Given the description of an element on the screen output the (x, y) to click on. 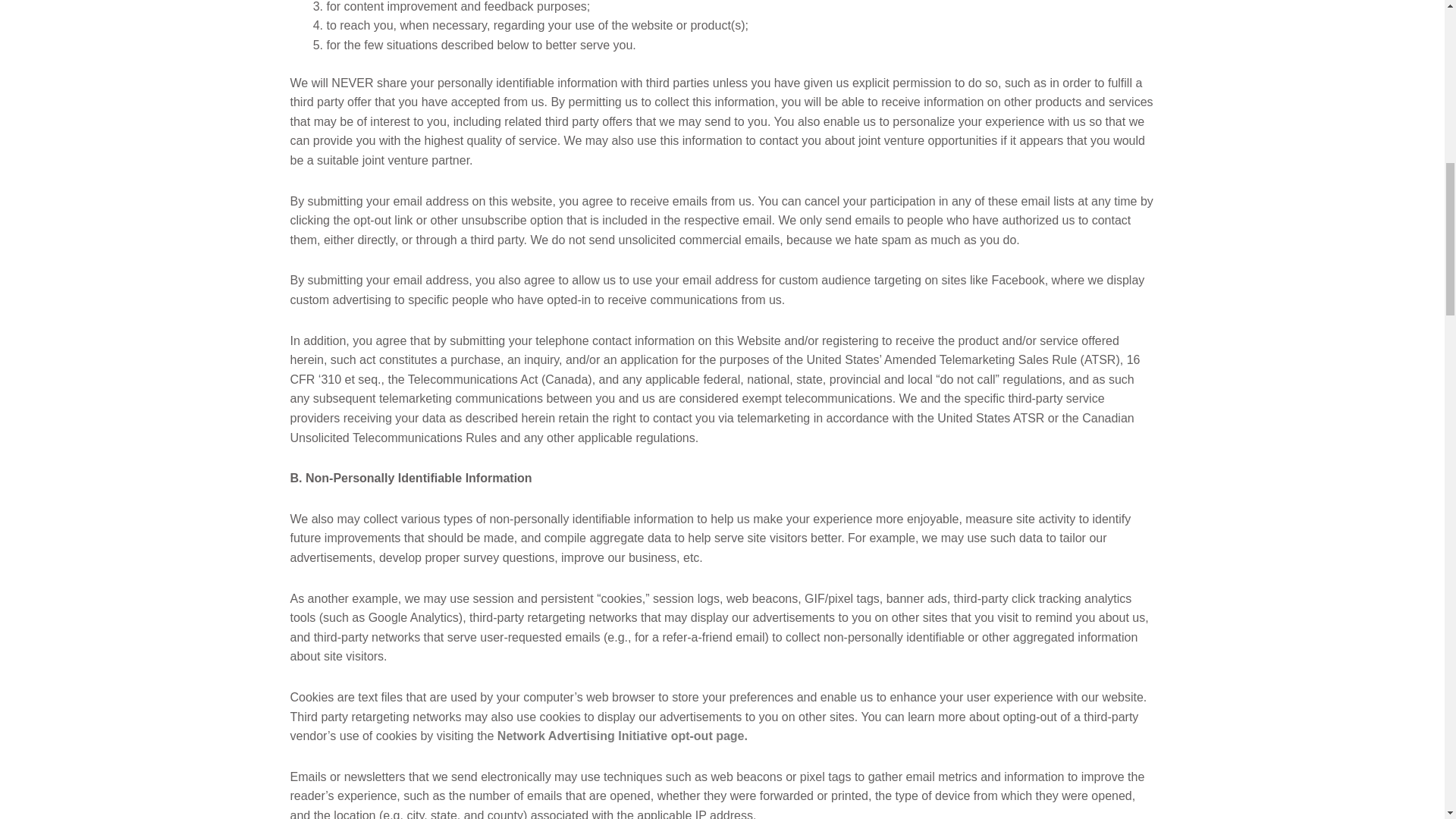
Network Advertising Initiative opt-out page. (622, 735)
